Given the description of an element on the screen output the (x, y) to click on. 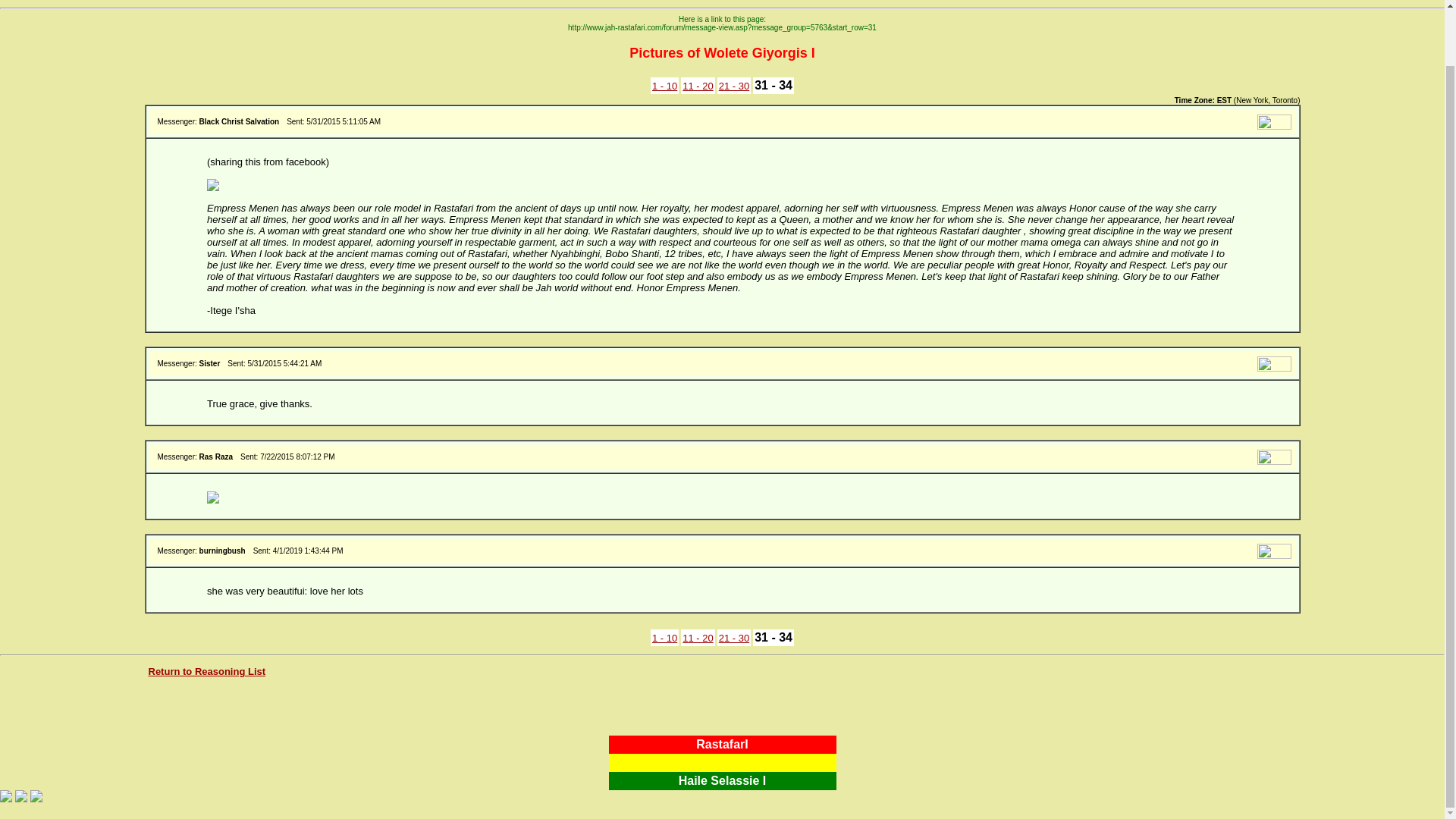
11 - 20 (697, 636)
Return to Reasoning List (207, 671)
21 - 30 (734, 636)
21 - 30 (734, 84)
1 - 10 (664, 636)
1 - 10 (664, 84)
11 - 20 (697, 84)
